Given the description of an element on the screen output the (x, y) to click on. 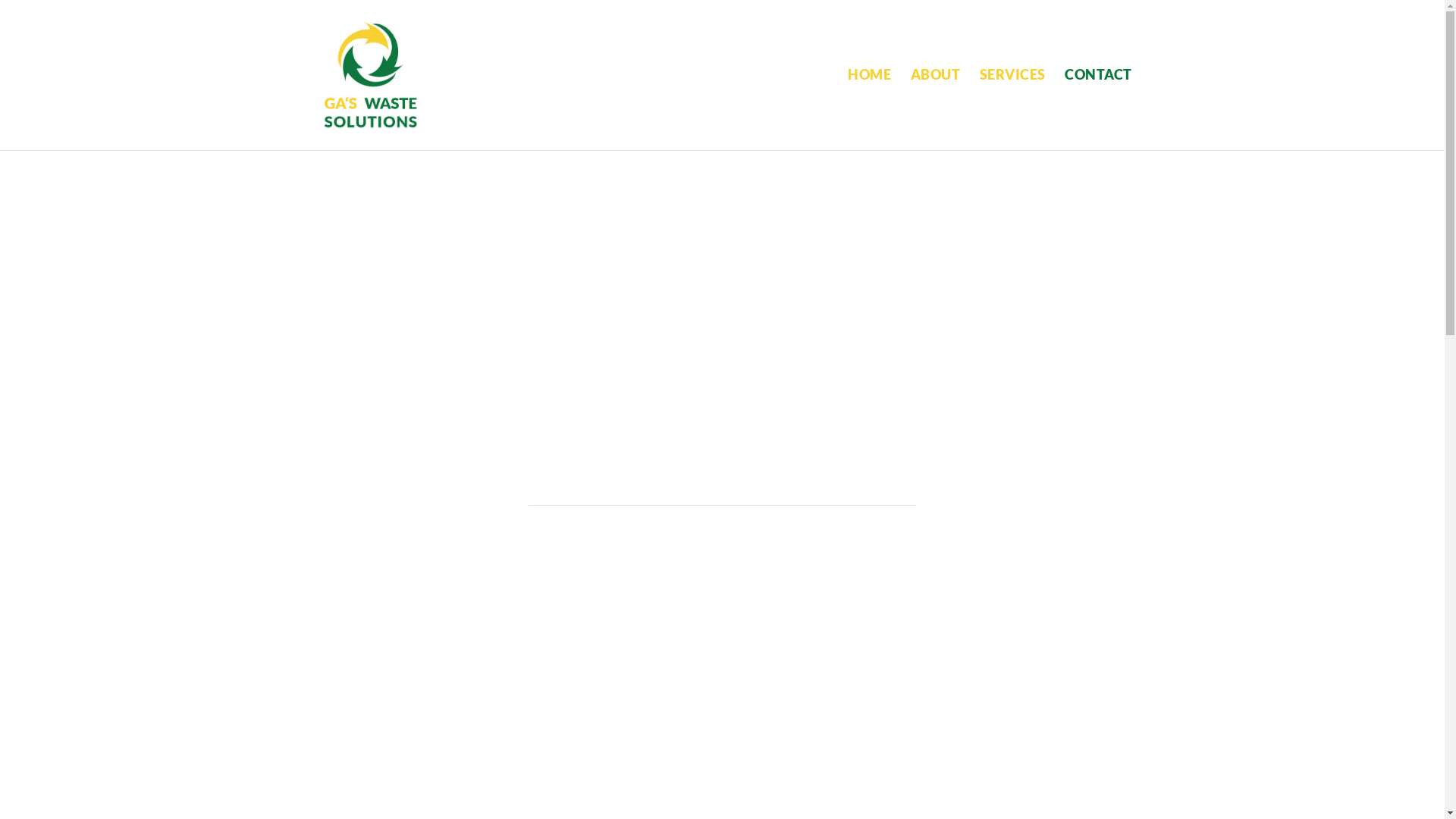
CONTACT Element type: text (1098, 107)
SERVICES Element type: text (1012, 107)
HOME Element type: text (869, 107)
ABOUT Element type: text (935, 107)
